Given the description of an element on the screen output the (x, y) to click on. 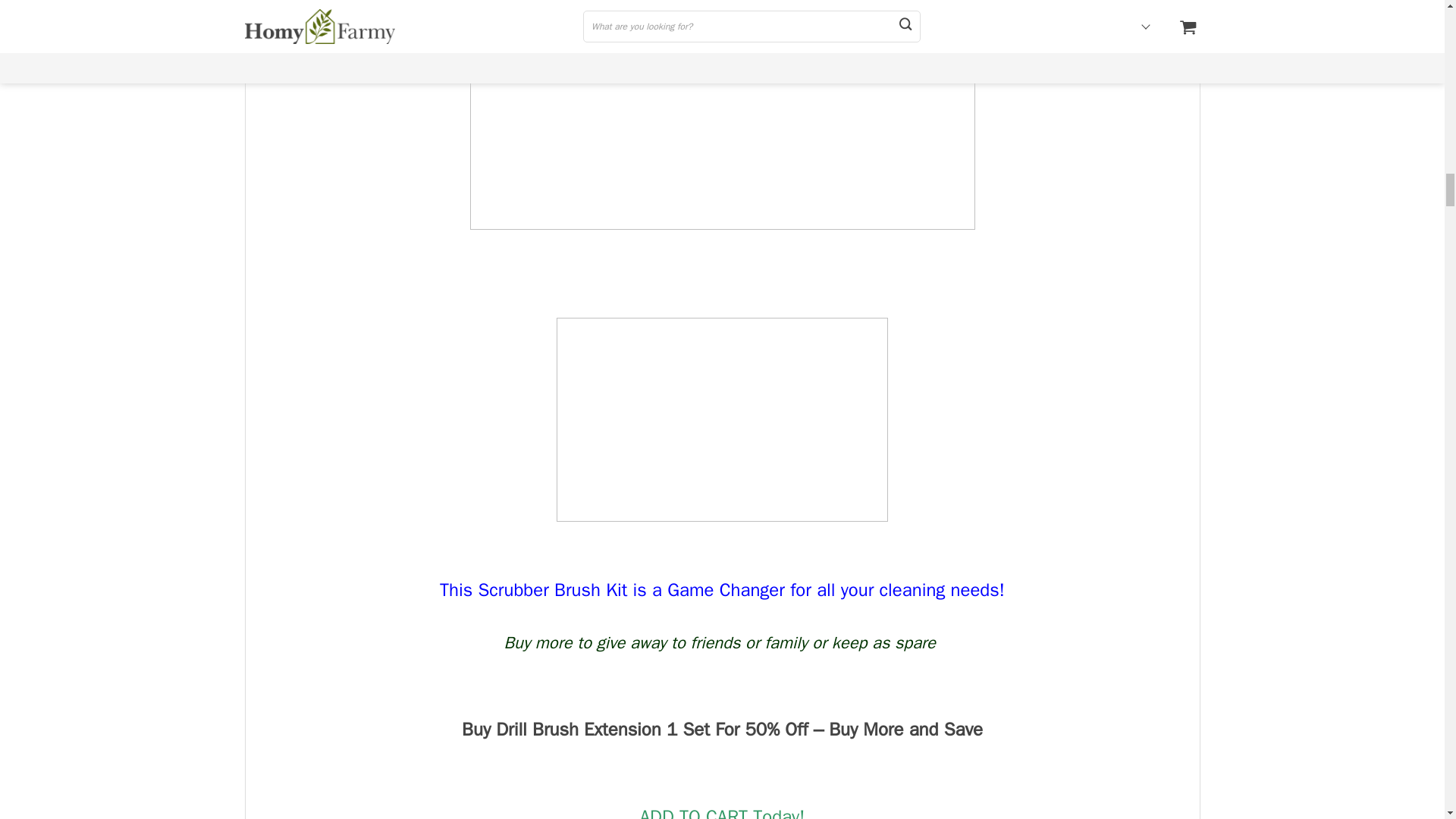
hard to reach areas (722, 419)
photo of extension rod (722, 115)
